Given the description of an element on the screen output the (x, y) to click on. 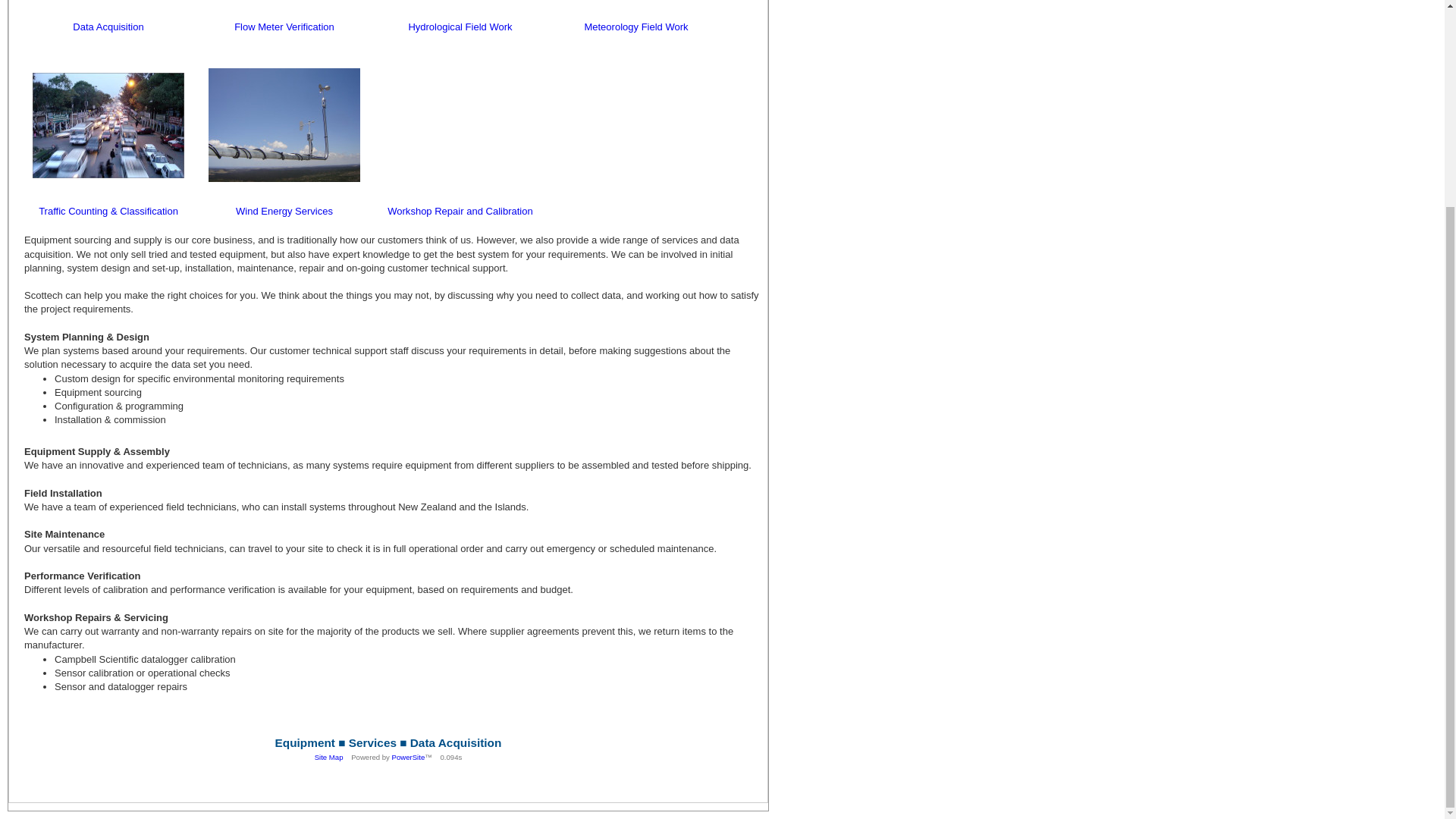
Site Map (328, 756)
Wind Energy Services (284, 211)
Meteorology Field Work (635, 26)
Flow Meter Verification (284, 26)
Data Acquisition (107, 26)
PowerSite (408, 756)
Workshop Repair and Calibration (459, 211)
Hydrological Field Work (459, 26)
